Given the description of an element on the screen output the (x, y) to click on. 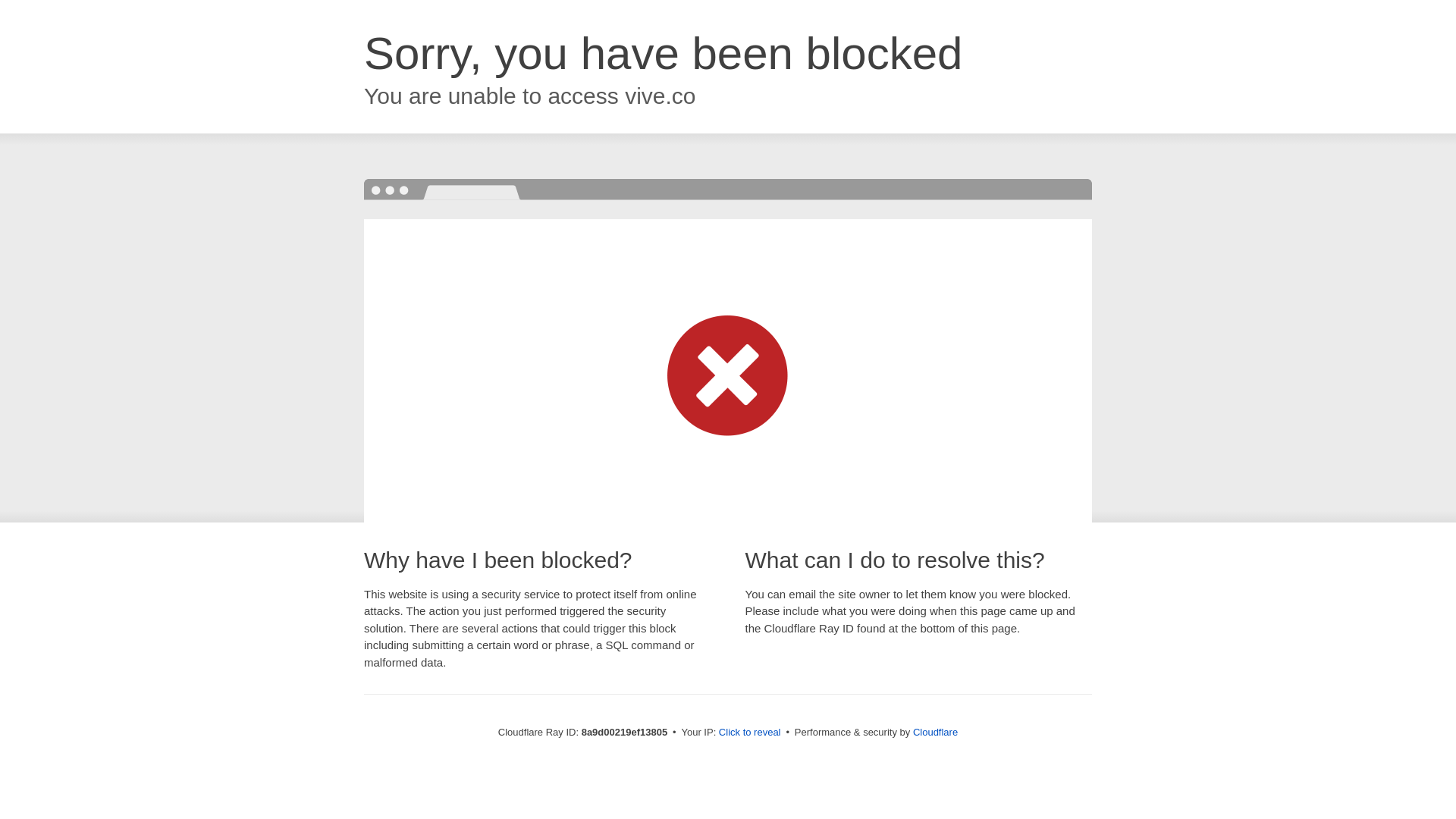
Click to reveal (749, 732)
Cloudflare (935, 731)
